Given the description of an element on the screen output the (x, y) to click on. 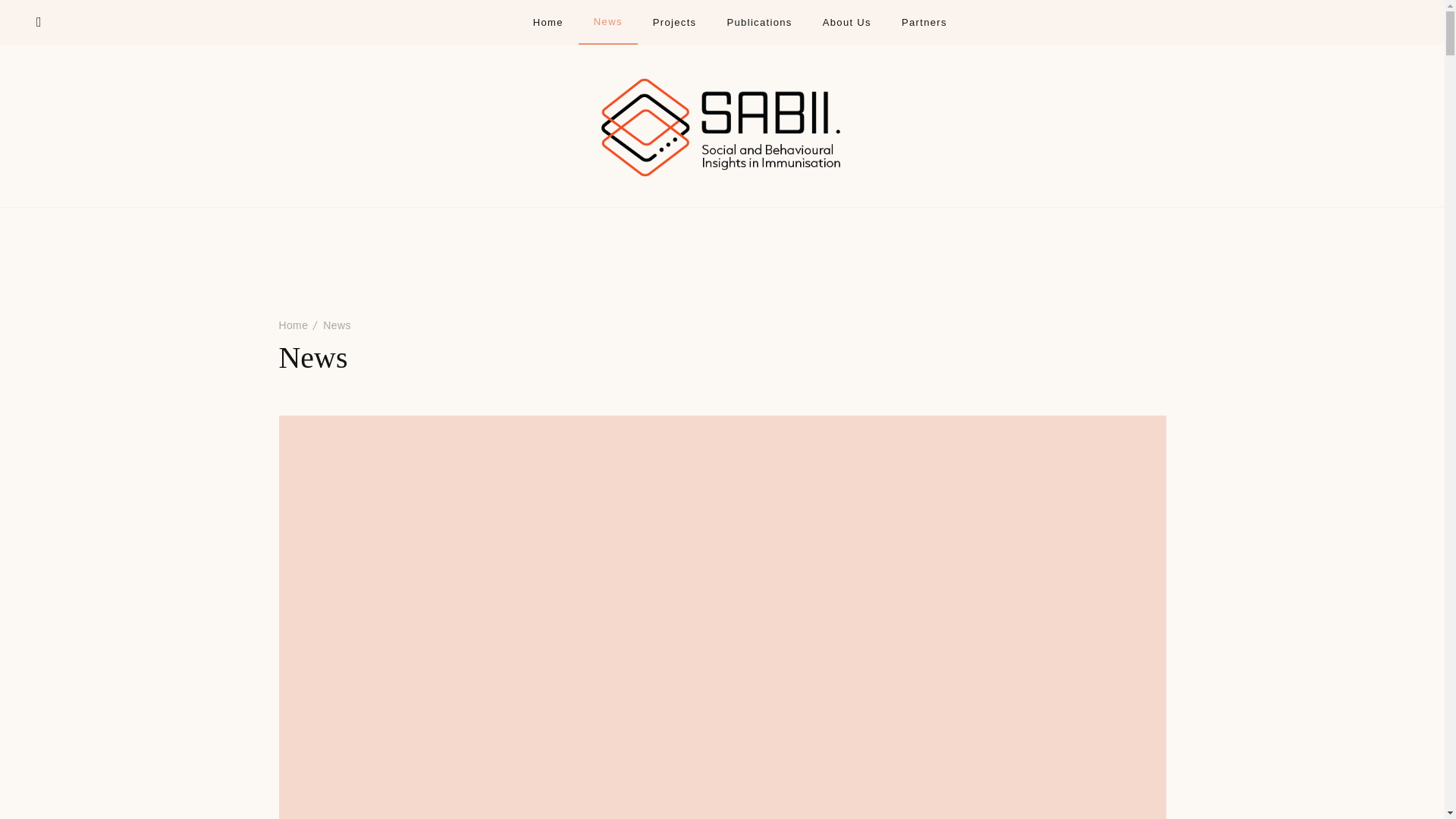
Publications (759, 22)
News (608, 21)
News (336, 325)
Projects (674, 22)
Partners (924, 22)
SABII (610, 181)
Home (547, 22)
About Us (846, 22)
Home (293, 325)
